Given the description of an element on the screen output the (x, y) to click on. 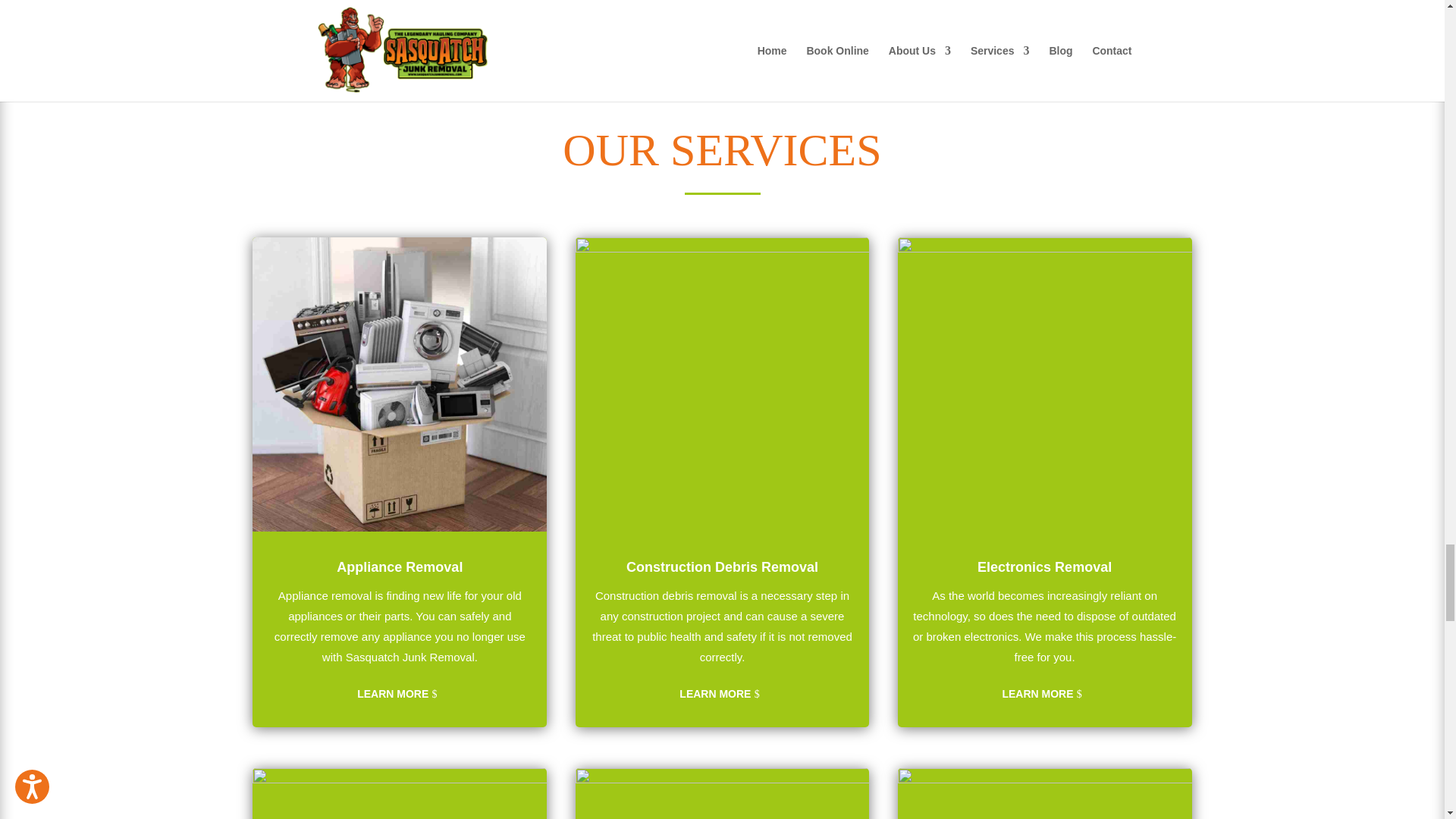
LEARN MORE (399, 694)
LEARN MORE (722, 694)
appliance removal professionals (399, 384)
LEARN MORE (1044, 694)
